Given the description of an element on the screen output the (x, y) to click on. 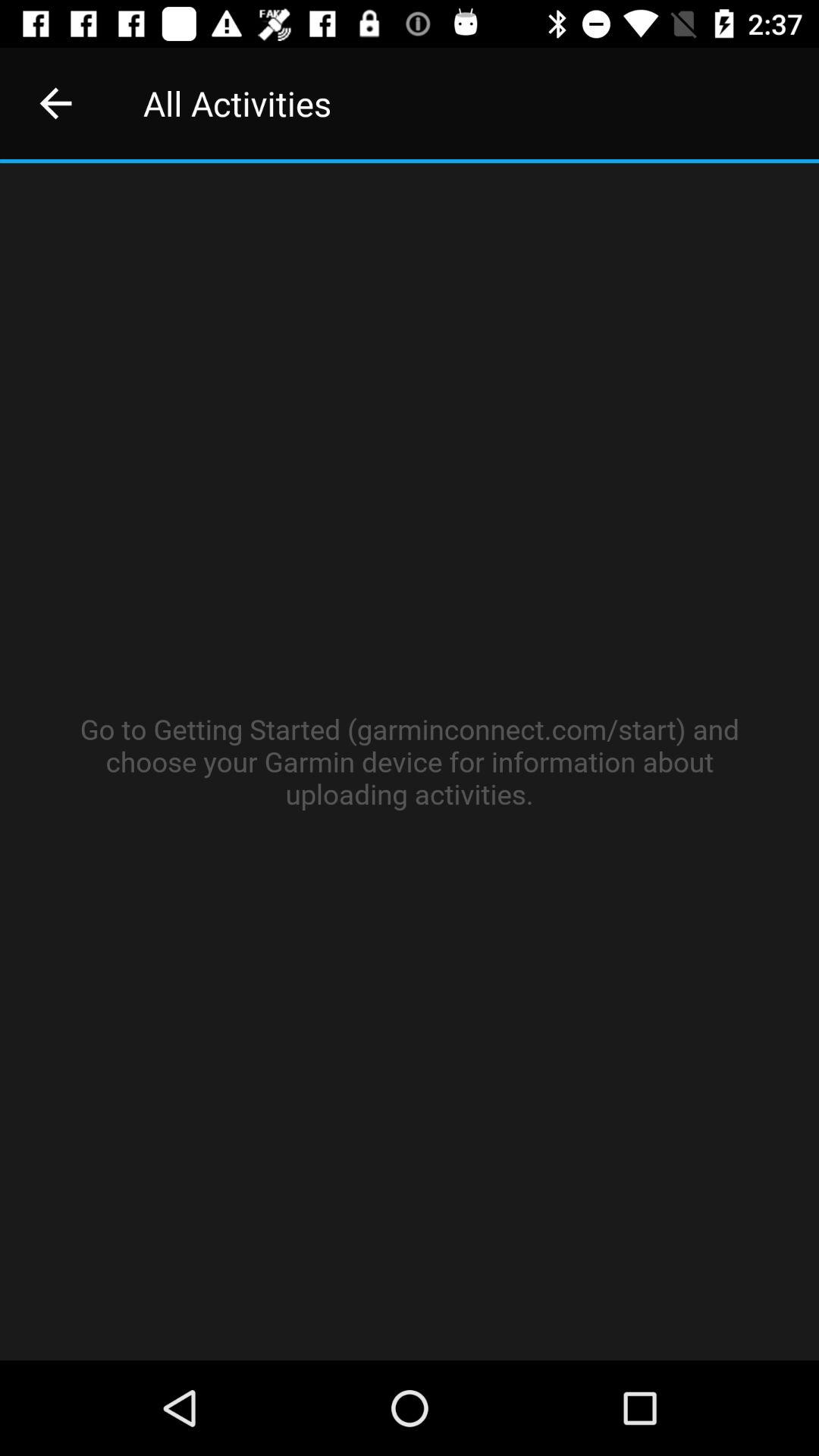
choose the item to the left of the all activities icon (55, 103)
